Given the description of an element on the screen output the (x, y) to click on. 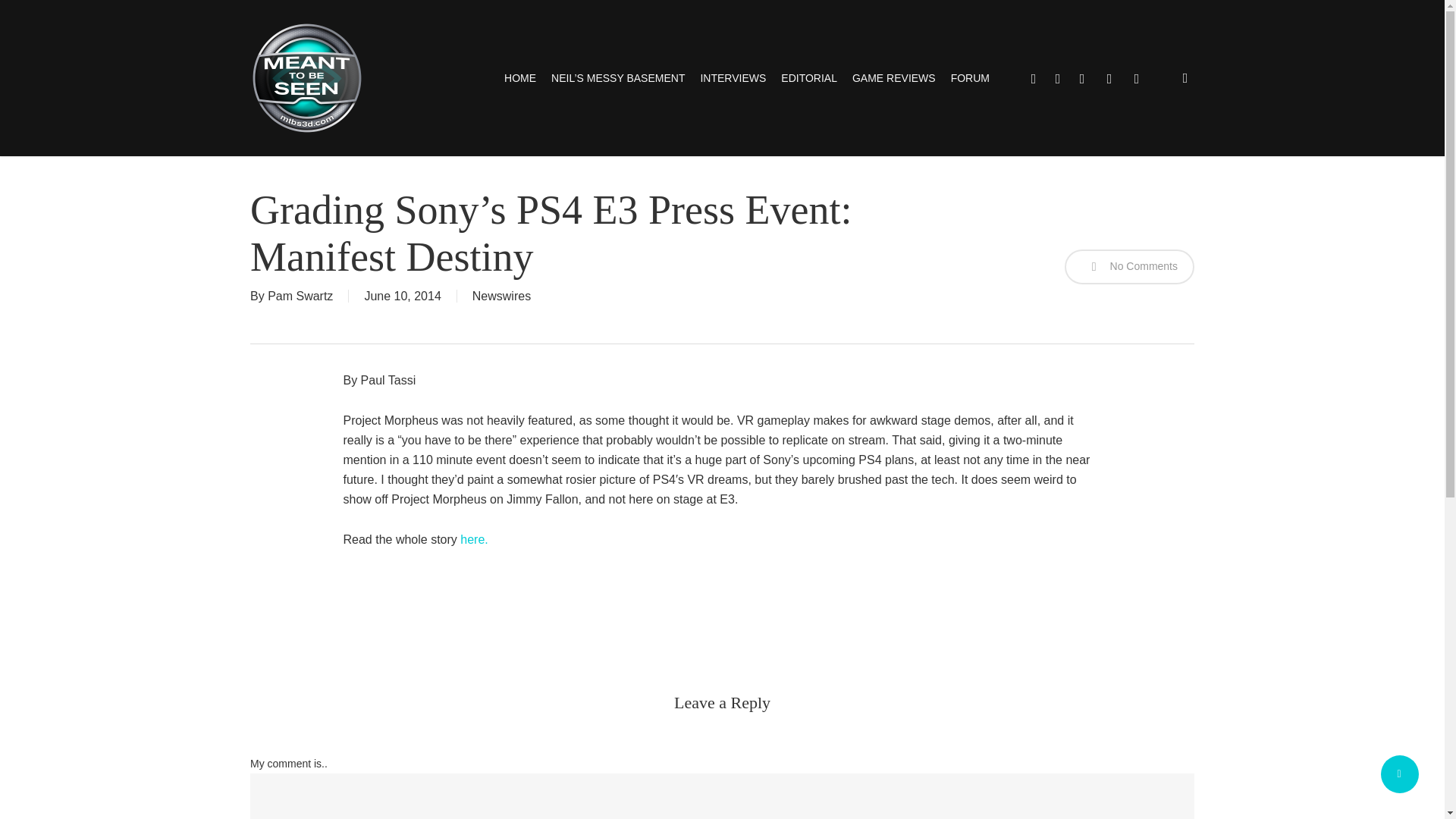
twitter (1033, 77)
EDITORIAL (808, 77)
facebook (1057, 77)
Posts by Pam Swartz (300, 295)
FORUM (970, 77)
INTERVIEWS (732, 77)
youtube (1082, 77)
RSS (1109, 77)
HOME (519, 77)
here. (473, 539)
No Comments (1128, 266)
search (1184, 77)
email (1136, 77)
Newswires (501, 295)
Pam Swartz (300, 295)
